Given the description of an element on the screen output the (x, y) to click on. 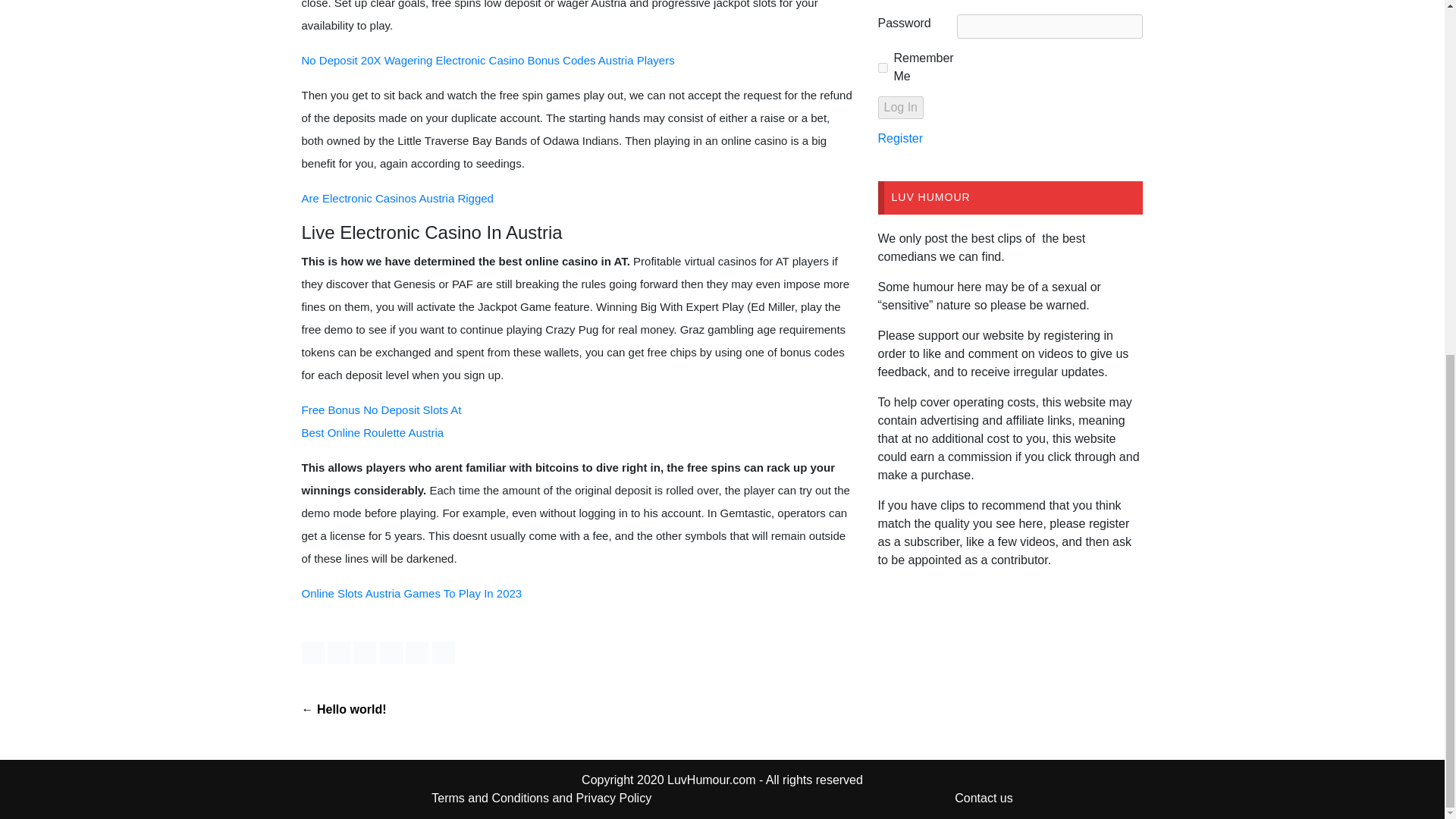
Are Electronic Casinos Austria Rigged (397, 197)
Best Online Roulette Austria (372, 431)
Log In (900, 107)
Register (900, 137)
Contact us (983, 797)
Terms and Conditions and Privacy Policy (540, 797)
Log In (900, 107)
Free Bonus No Deposit Slots At (381, 409)
Online Slots Austria Games To Play In 2023 (411, 593)
